Given the description of an element on the screen output the (x, y) to click on. 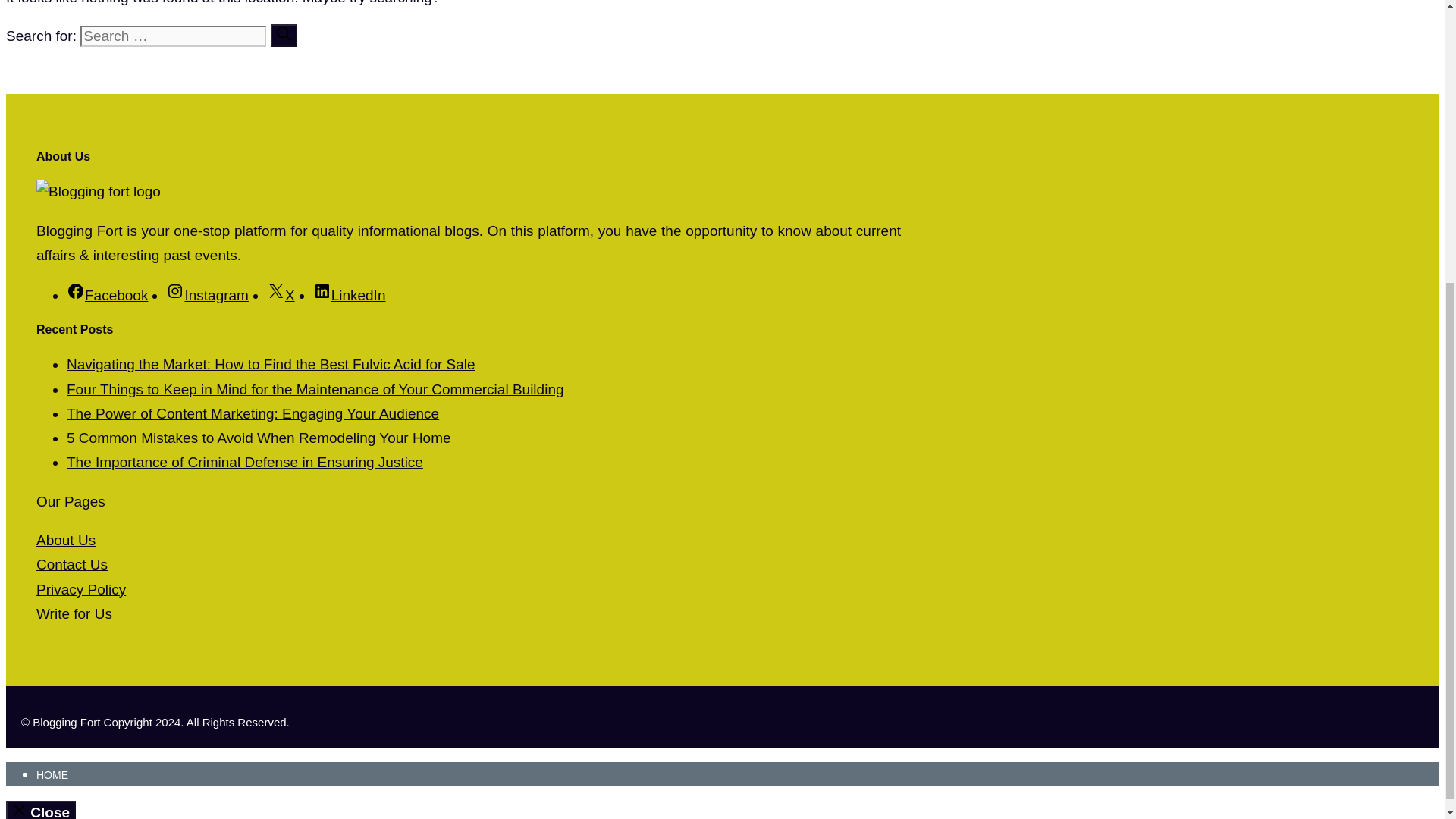
5 Common Mistakes to Avoid When Remodeling Your Home (258, 437)
Privacy Policy (80, 589)
The Importance of Criminal Defense in Ensuring Justice (244, 462)
Facebook (107, 295)
LinkedIn (349, 295)
About Us (66, 539)
X (280, 295)
The Power of Content Marketing: Engaging Your Audience (252, 413)
Write for Us (74, 613)
